Given the description of an element on the screen output the (x, y) to click on. 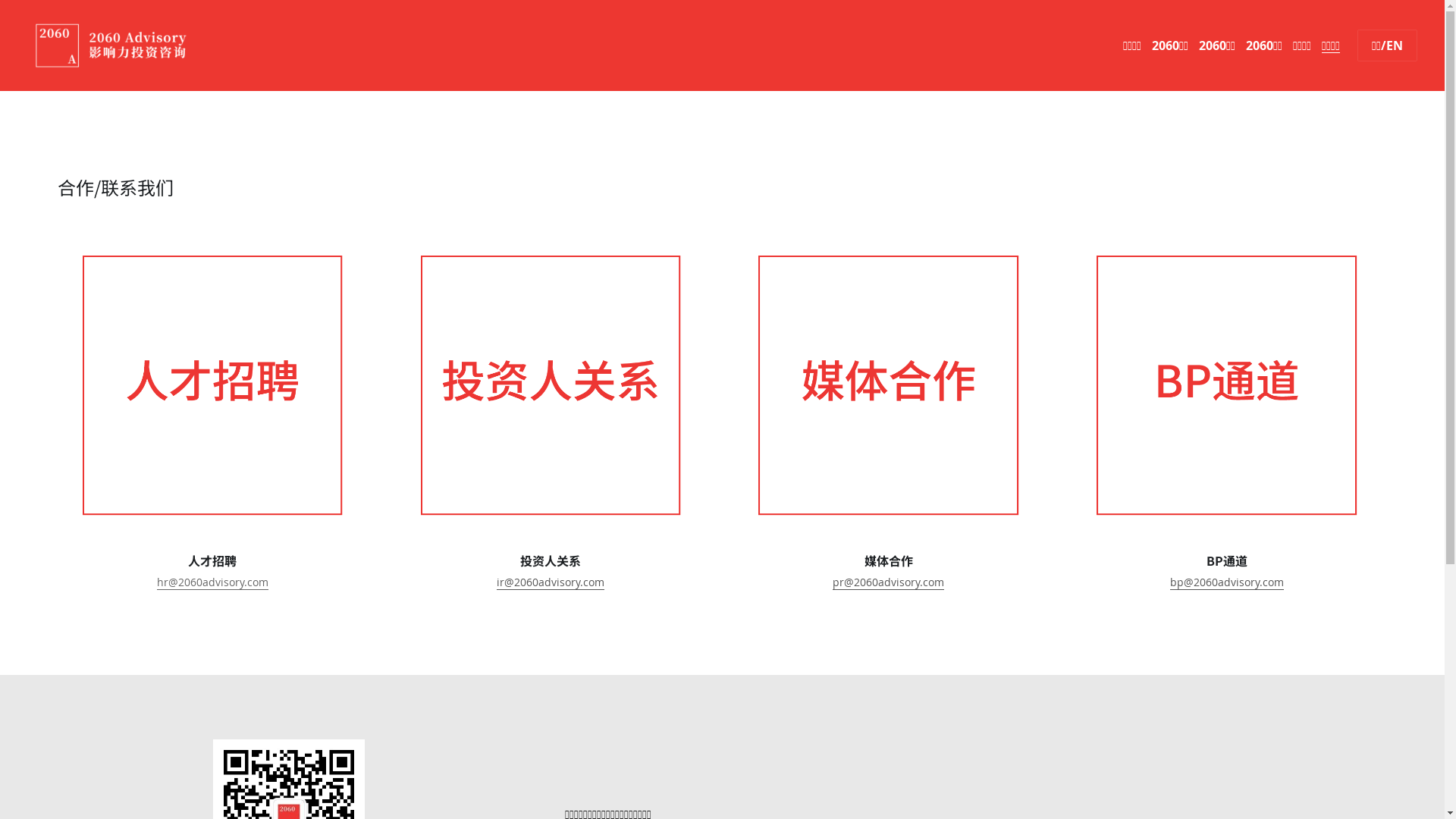
pr@2060advisory.com Element type: text (888, 581)
ir@2060advisory.com Element type: text (550, 581)
hr@2060advisory.com Element type: text (212, 581)
bp@2060advisory.com Element type: text (1226, 581)
